Given the description of an element on the screen output the (x, y) to click on. 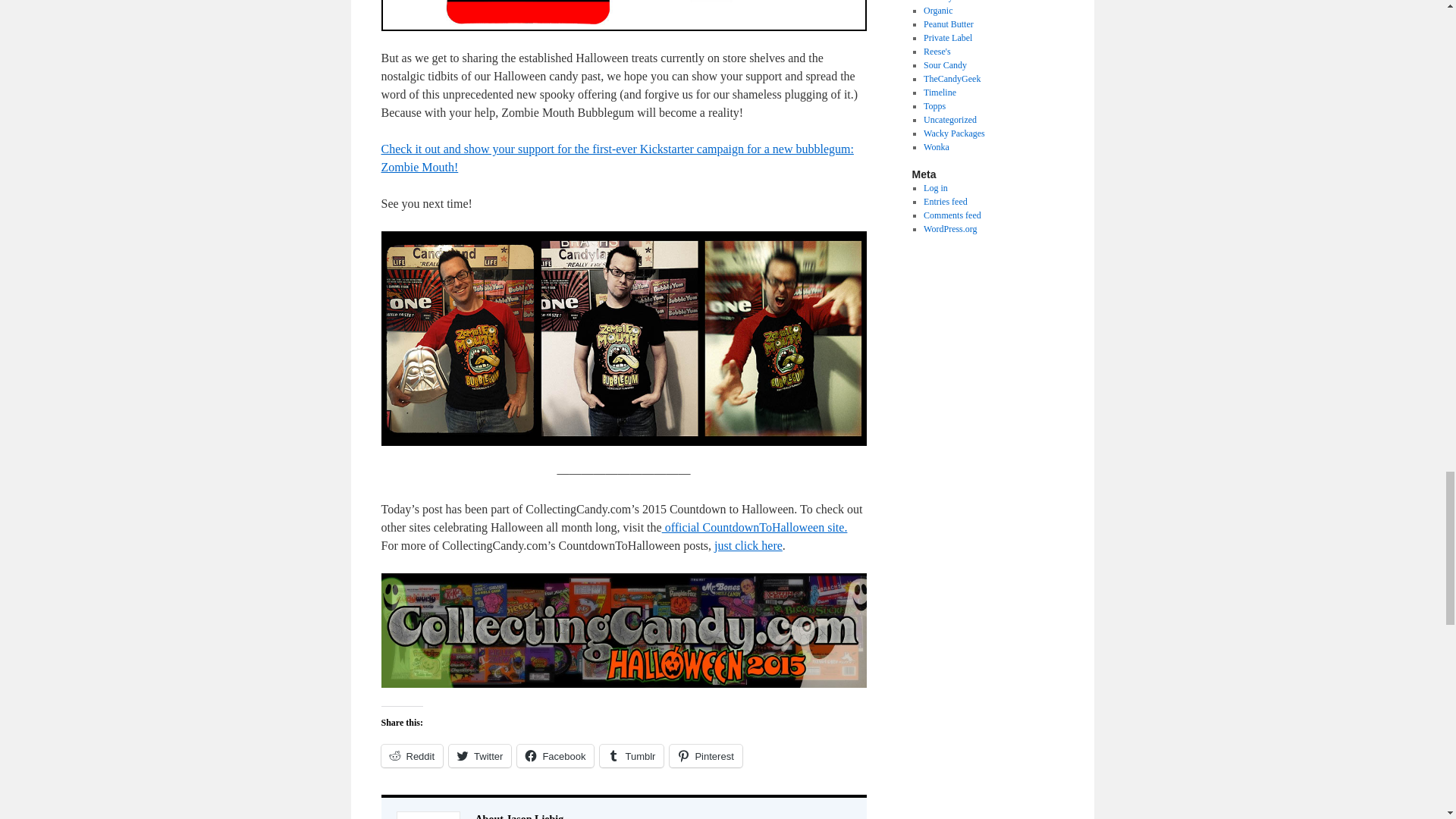
Click to share on Facebook (555, 755)
Tumblr (631, 755)
just click here (748, 545)
Click to share on Reddit (411, 755)
Click to share on Twitter (479, 755)
Twitter (479, 755)
Reddit (411, 755)
Click to share on Pinterest (705, 755)
Click to share on Tumblr (631, 755)
Facebook (555, 755)
Pinterest (705, 755)
official CountdownToHalloween site. (754, 526)
